Given the description of an element on the screen output the (x, y) to click on. 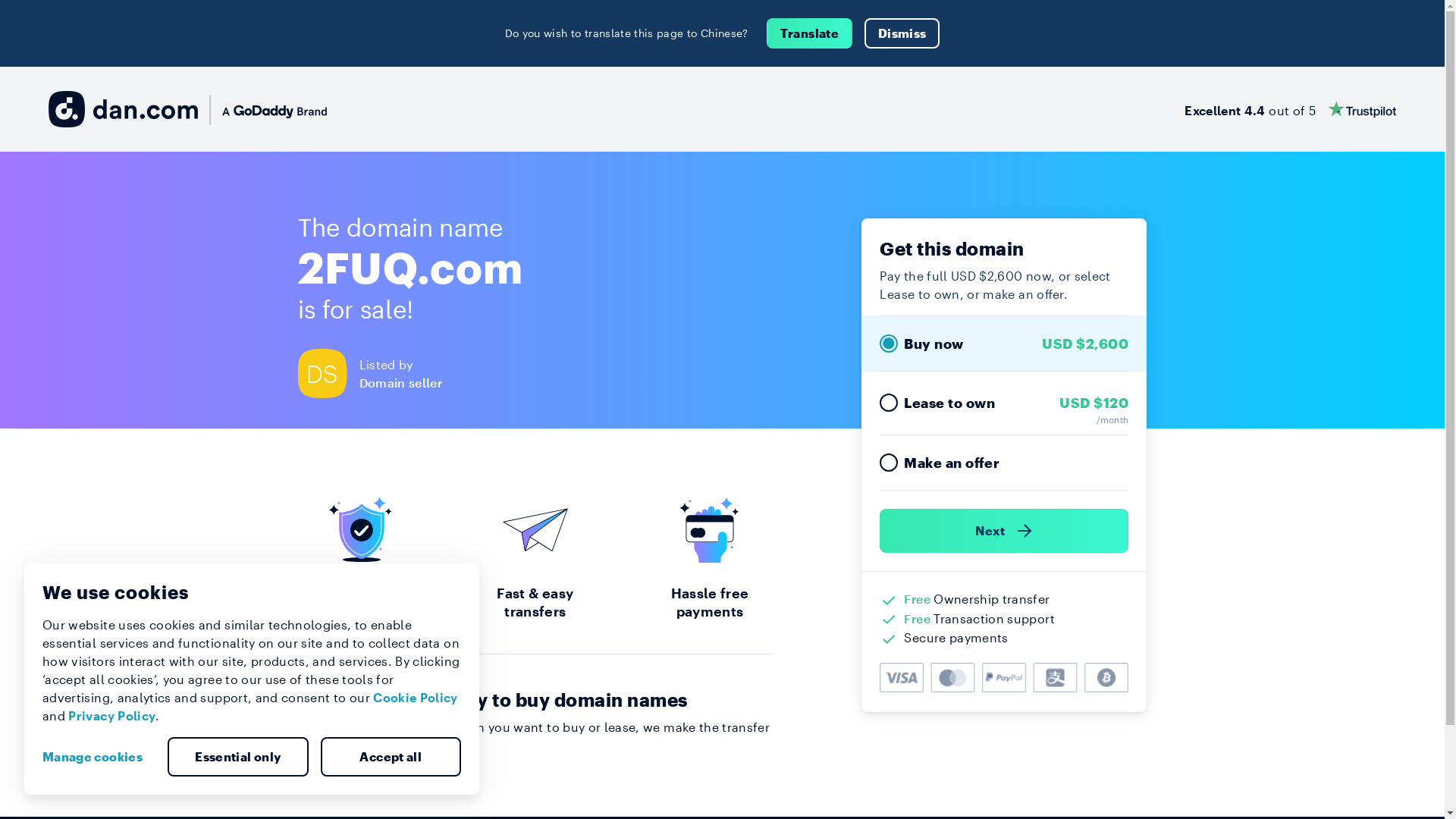
Manage cookies Element type: text (98, 756)
DS Element type: text (327, 373)
Dismiss Element type: text (901, 33)
Accept all Element type: text (390, 756)
Privacy Policy Element type: text (111, 715)
Cookie Policy Element type: text (415, 697)
Essential only Element type: text (237, 756)
Translate Element type: text (809, 33)
Next
) Element type: text (1003, 530)
Excellent 4.4 out of 5 Element type: text (1290, 109)
